Given the description of an element on the screen output the (x, y) to click on. 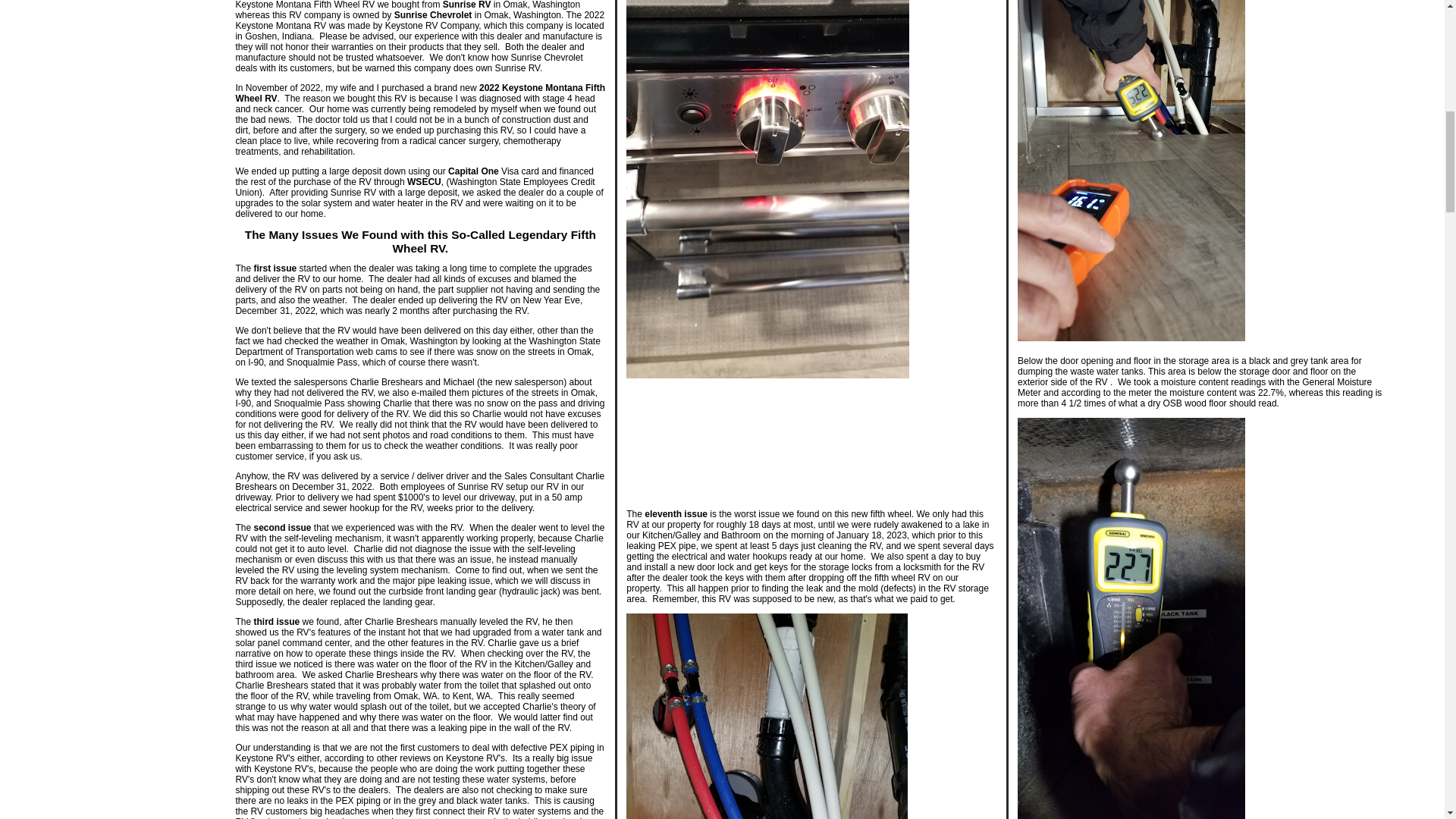
Keystone Montana Gas Range Knob Malfunction (810, 437)
